Given the description of an element on the screen output the (x, y) to click on. 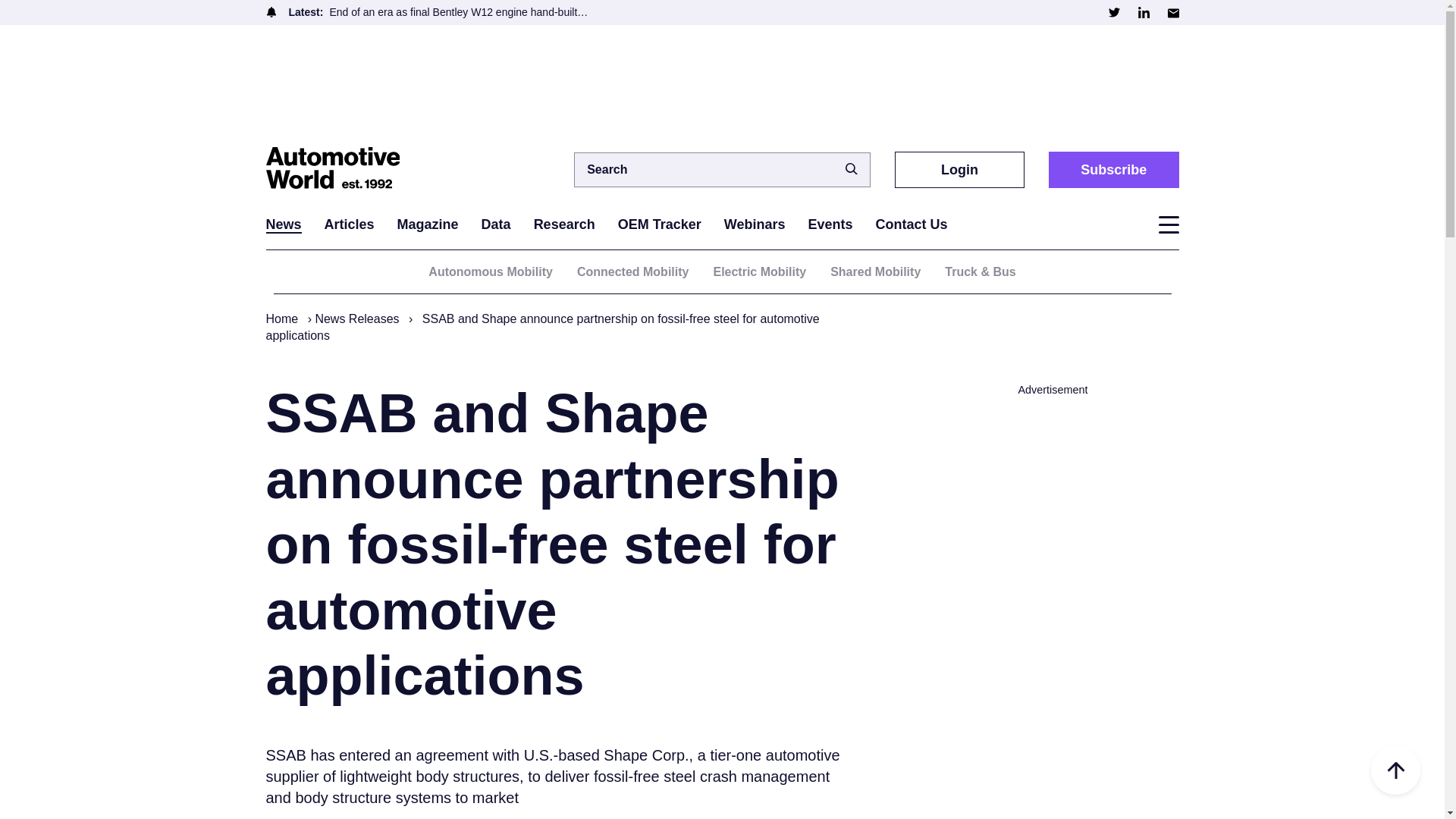
Login (960, 169)
Twitter (1113, 12)
Linkedin (1142, 12)
Autonomous Mobility (490, 271)
3rd party ad content (721, 83)
Log In (936, 439)
Magazine (427, 224)
Shared Mobility (874, 271)
News (282, 225)
Automotive World (340, 169)
Subscribe (1112, 169)
Articles (349, 224)
Login (960, 169)
Subscribe (1112, 169)
Connected Mobility (632, 271)
